Given the description of an element on the screen output the (x, y) to click on. 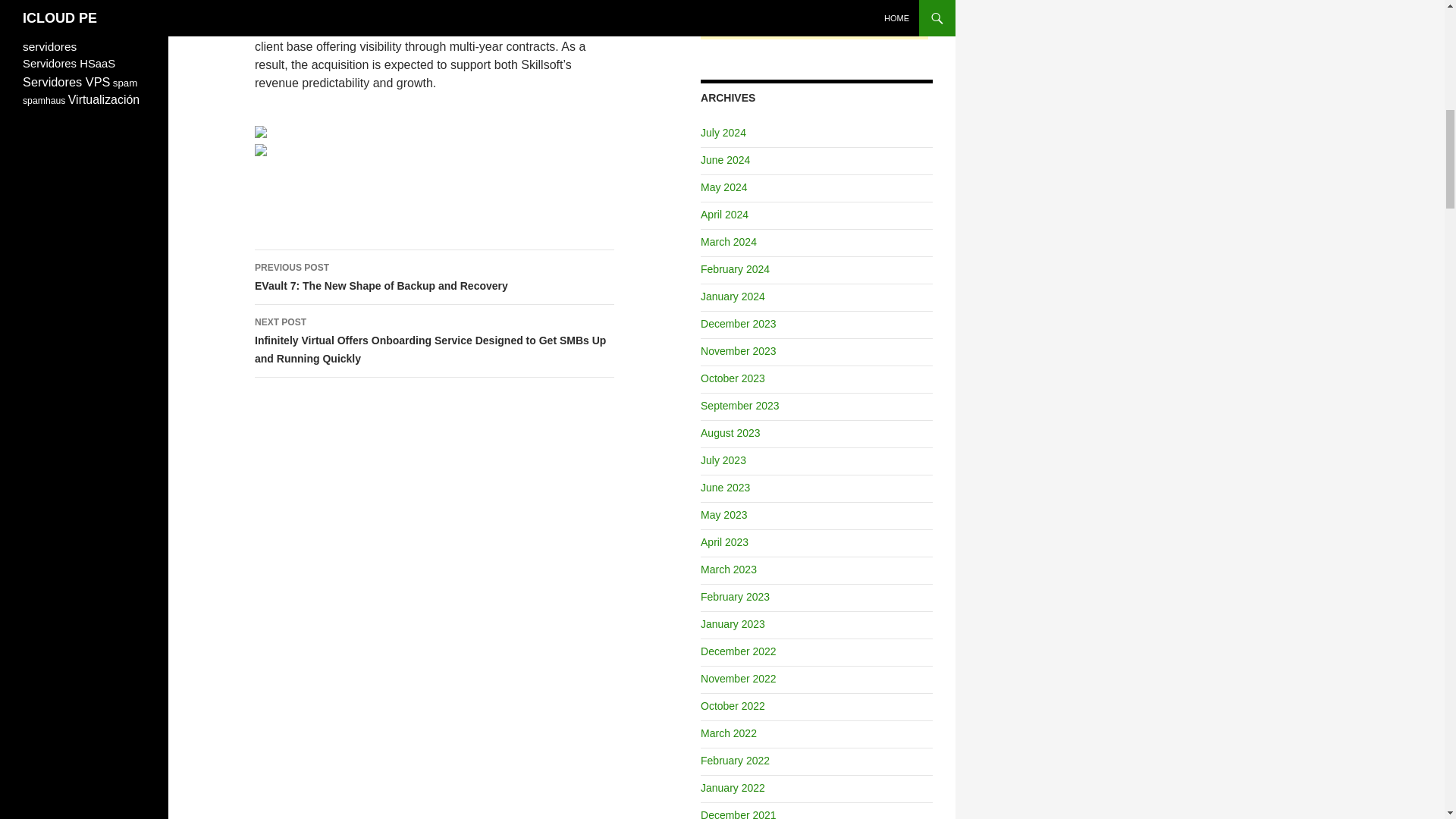
Advertisement (814, 19)
